Given the description of an element on the screen output the (x, y) to click on. 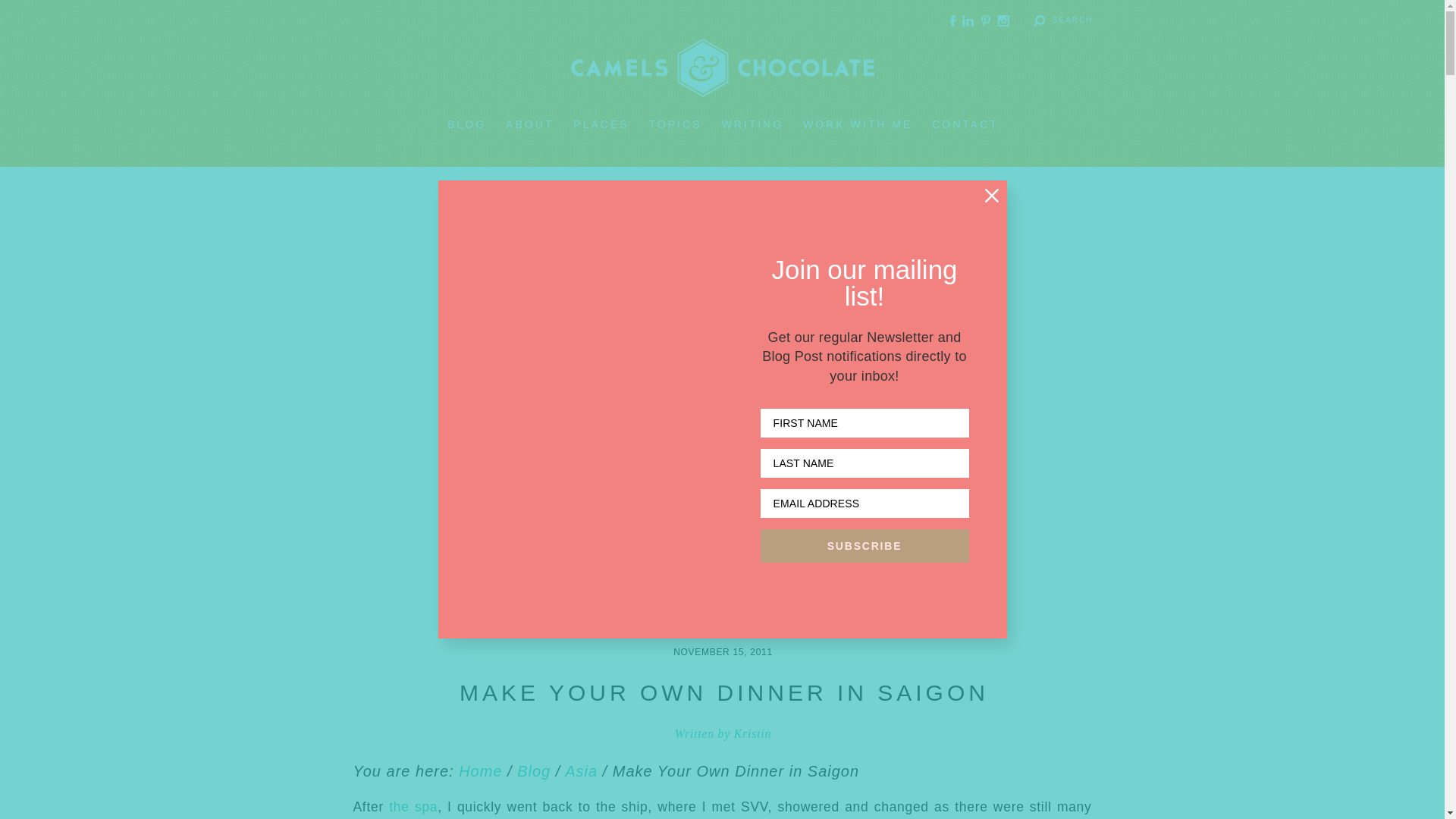
CONTACT (964, 123)
ABOUT (529, 123)
2011-11-15 (722, 652)
WRITING (751, 123)
BLOG (466, 123)
Blog (533, 770)
PLACES (600, 123)
the spa (413, 806)
Home (480, 770)
TOPICS (675, 123)
WORK WITH ME (857, 123)
Asia (580, 770)
